Given the description of an element on the screen output the (x, y) to click on. 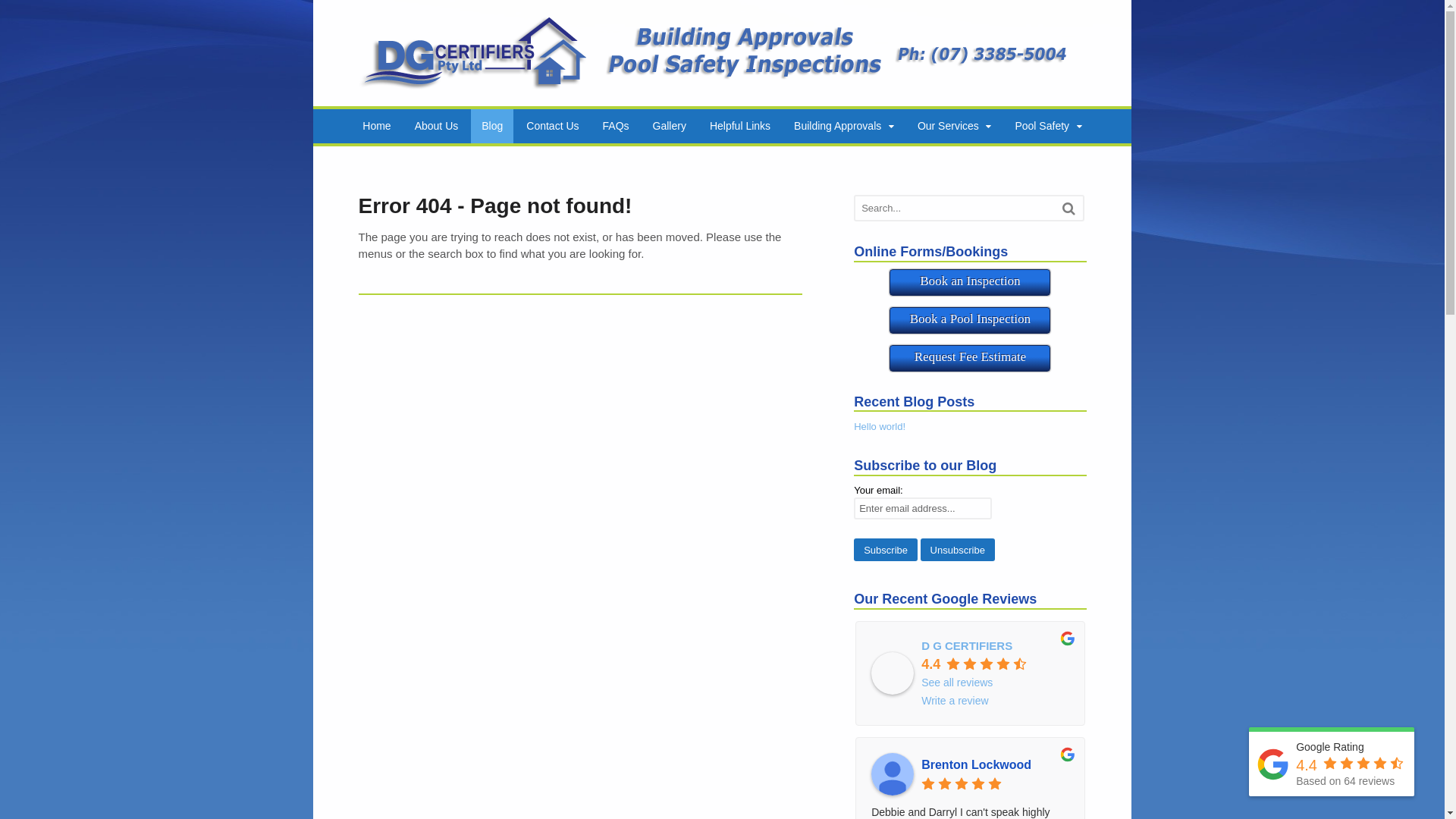
Book an Inspection Element type: text (969, 282)
Pool Safety Element type: text (1048, 126)
FAQs Element type: text (616, 126)
Brenton Lockwood Element type: hover (892, 774)
Subscribe Element type: text (885, 549)
Brenton Lockwood Element type: text (994, 765)
Home Element type: text (376, 126)
Book a Pool Inspection Element type: text (969, 320)
D G CERTIFIERS Element type: text (966, 644)
D G CERTIFIERS Element type: hover (892, 673)
Building Approvals Element type: text (843, 126)
Hello world! Element type: text (879, 426)
Gallery Element type: text (669, 126)
Request Fee Estimate Element type: text (969, 358)
See all reviews Element type: text (956, 682)
Blog Element type: text (491, 126)
Helpful Links Element type: text (740, 126)
About Us Element type: text (436, 126)
Unsubscribe Element type: text (957, 549)
Write a review Element type: text (954, 700)
Contact Us Element type: text (552, 126)
Search Element type: text (1068, 207)
Our Services Element type: text (954, 126)
